Given the description of an element on the screen output the (x, y) to click on. 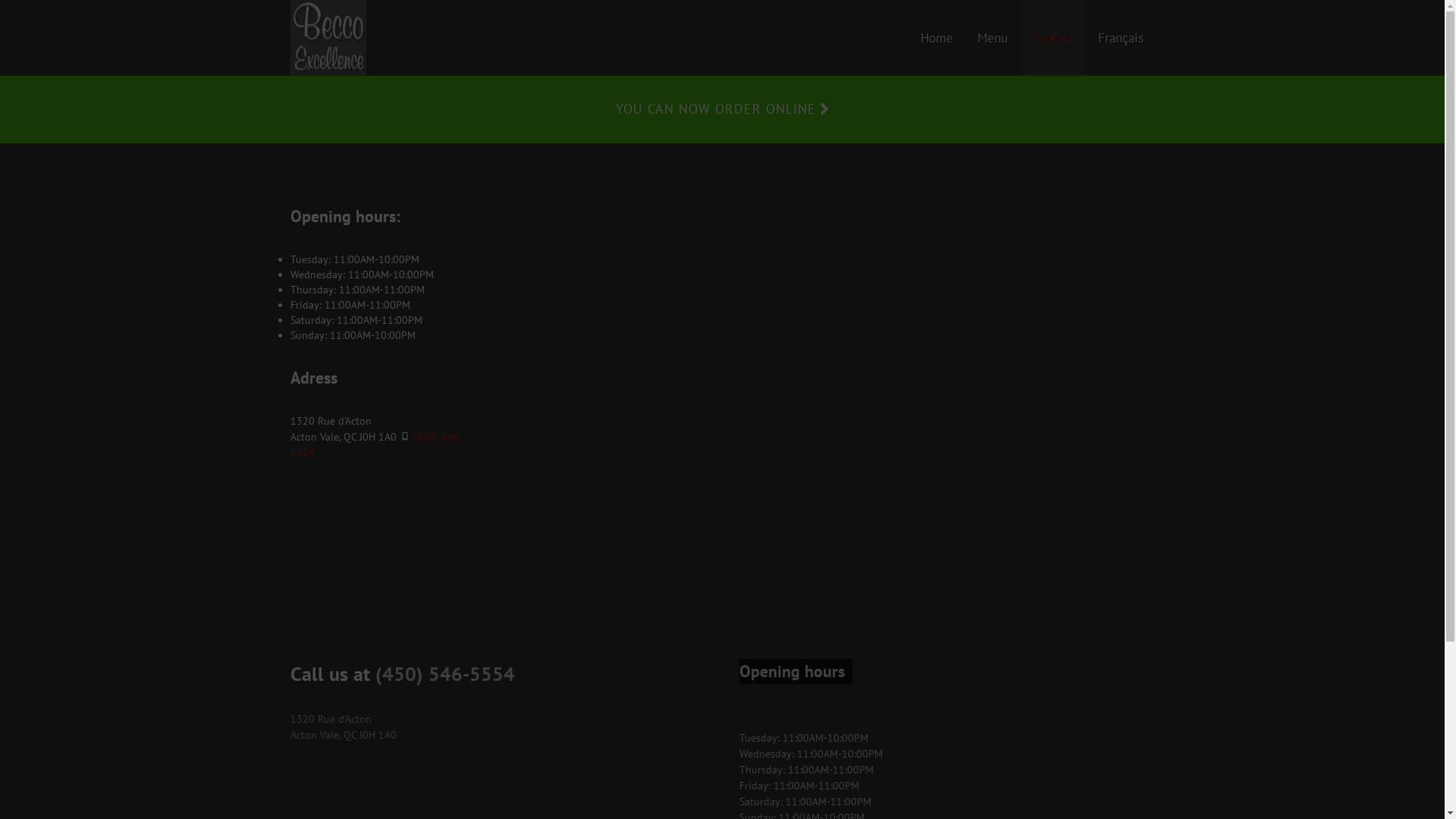
(450) 546-5554 Element type: text (444, 673)
YOU CAN NOW ORDER ONLINE Element type: text (722, 109)
Home Element type: text (935, 37)
Contact Element type: text (1052, 37)
Menu Element type: text (992, 37)
(450) 546-5554 Element type: text (375, 443)
